Given the description of an element on the screen output the (x, y) to click on. 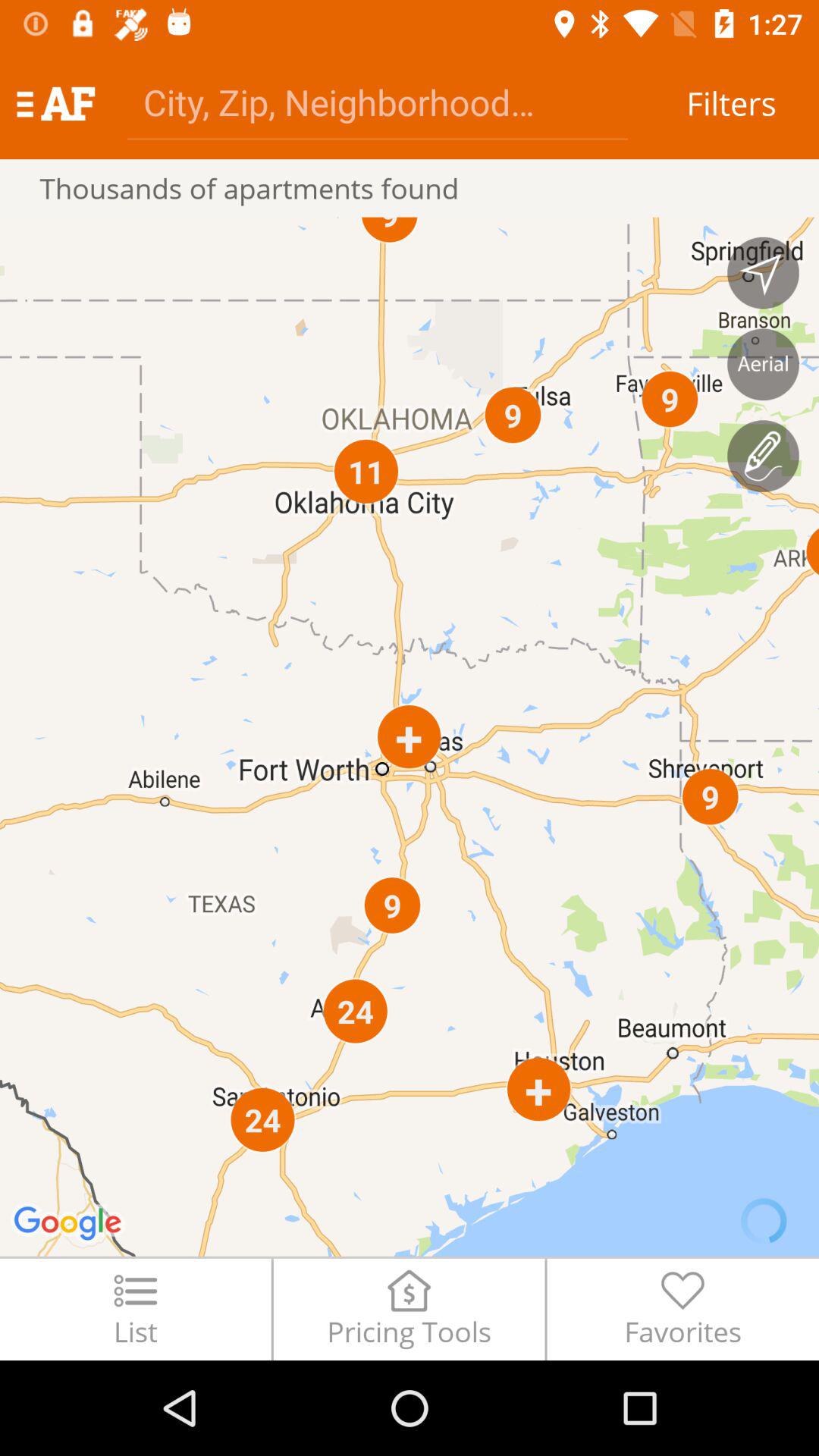
change app view (763, 364)
